Given the description of an element on the screen output the (x, y) to click on. 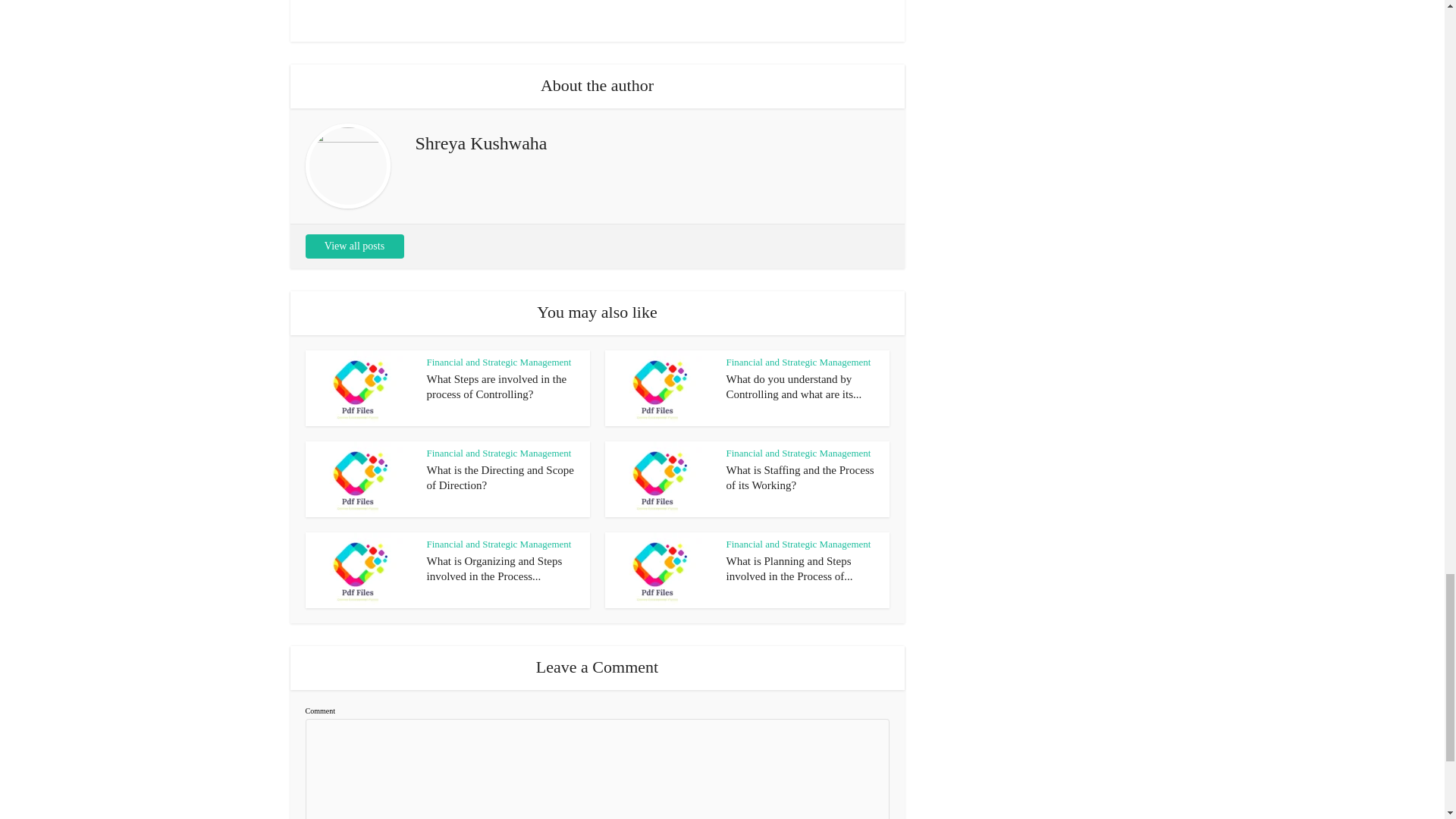
Financial and Strategic Management (498, 117)
What is Staffing and the Process of its Working? (800, 51)
What is Organizing and Steps involved in the Process... (494, 142)
Financial and Strategic Management (798, 26)
Post Comment (357, 502)
What is the Directing and Scope of Direction? (499, 51)
Post Comment (357, 502)
What is the Directing and Scope of Direction? (499, 51)
What is Planning and Steps involved in the Process of... (789, 142)
Financial and Strategic Management (498, 26)
